Given the description of an element on the screen output the (x, y) to click on. 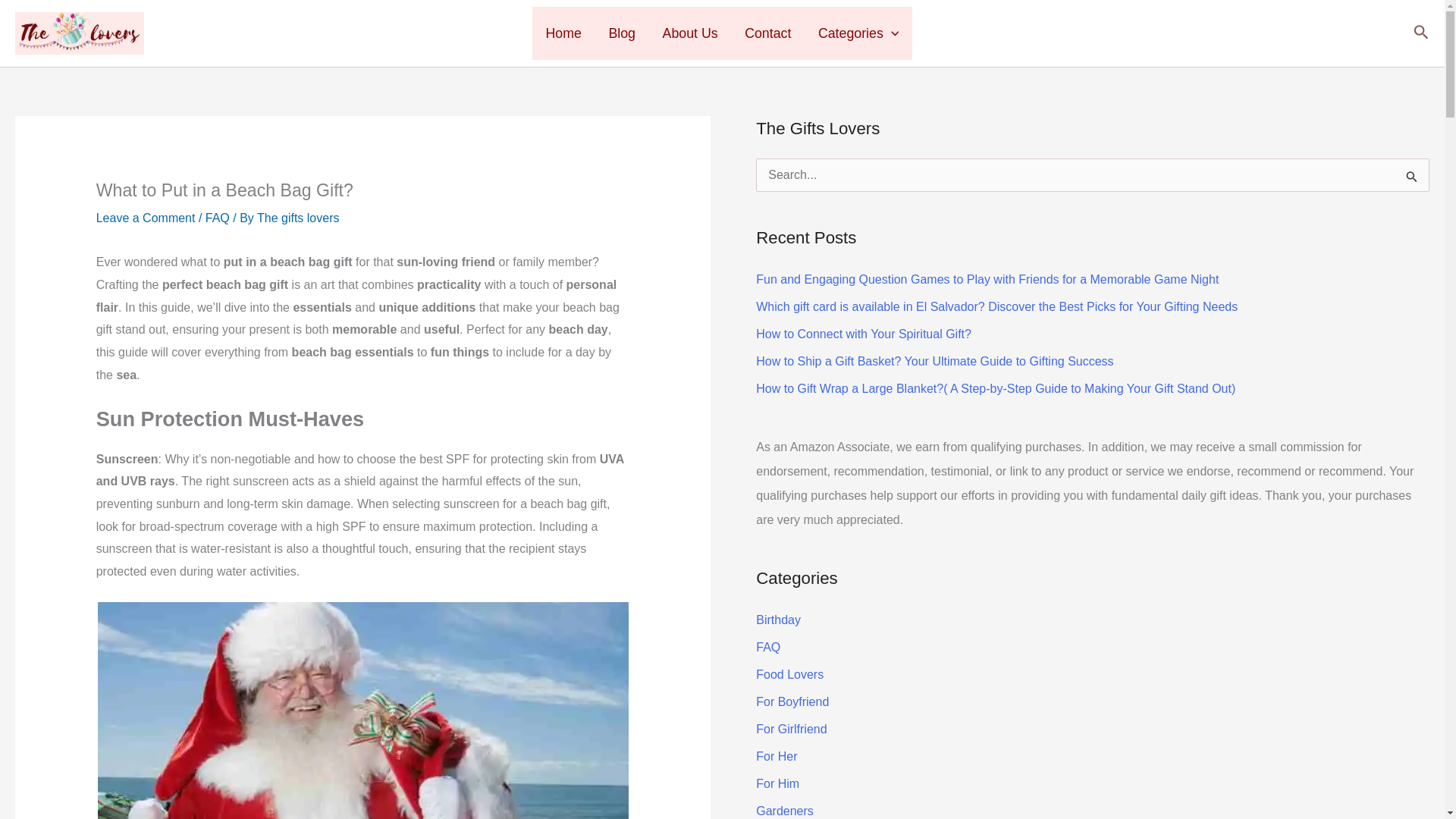
Contact (767, 32)
Categories (858, 32)
Home (563, 32)
View all posts by The gifts lovers (298, 217)
Blog (622, 32)
About Us (690, 32)
